Given the description of an element on the screen output the (x, y) to click on. 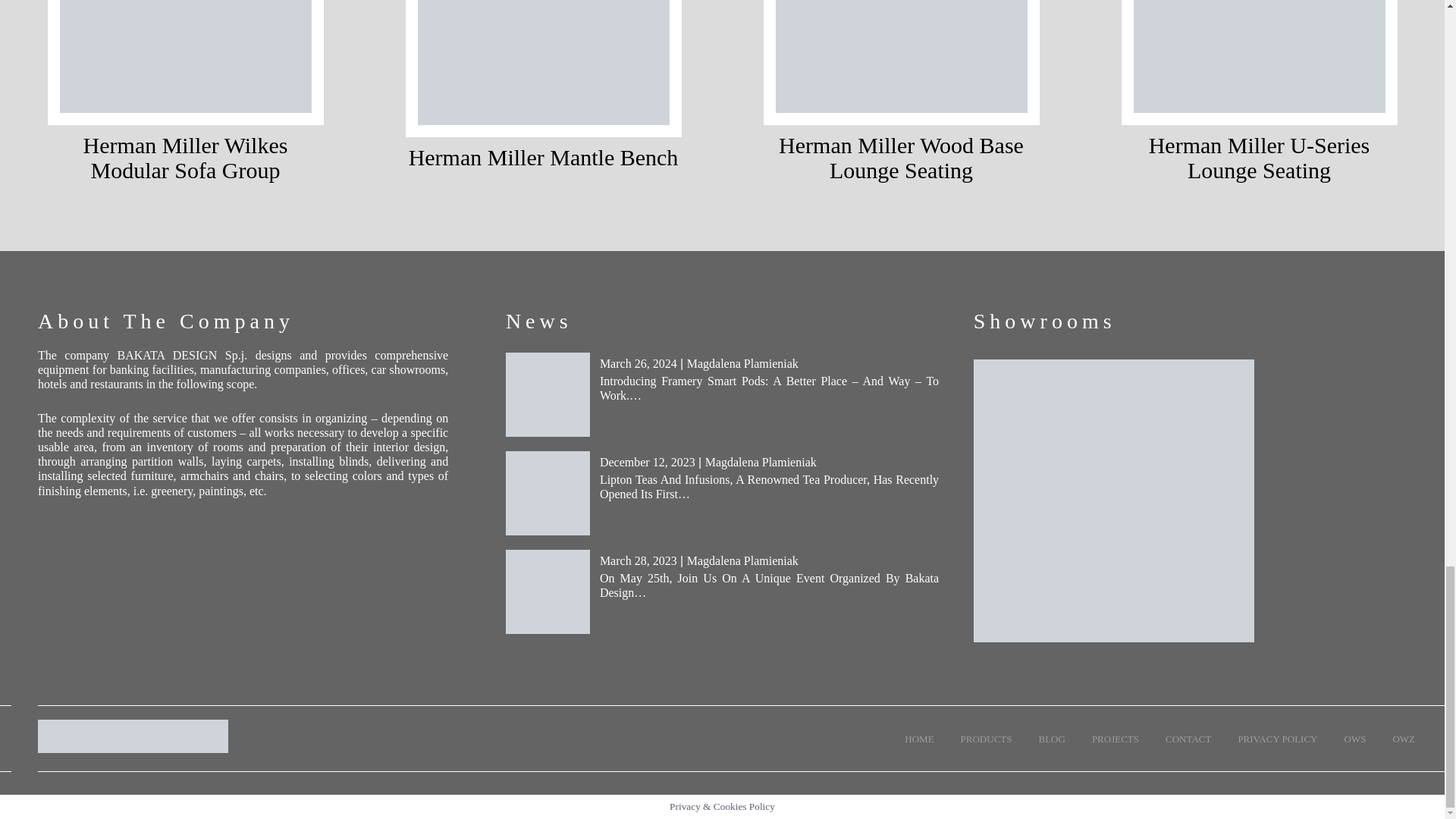
Magdalena Plamieniak (760, 461)
March 26, 2024 (638, 363)
December 12, 2023 (647, 461)
Magdalena Plamieniak (742, 560)
March 28, 2023 (638, 560)
Magdalena Plamieniak (742, 363)
